Given the description of an element on the screen output the (x, y) to click on. 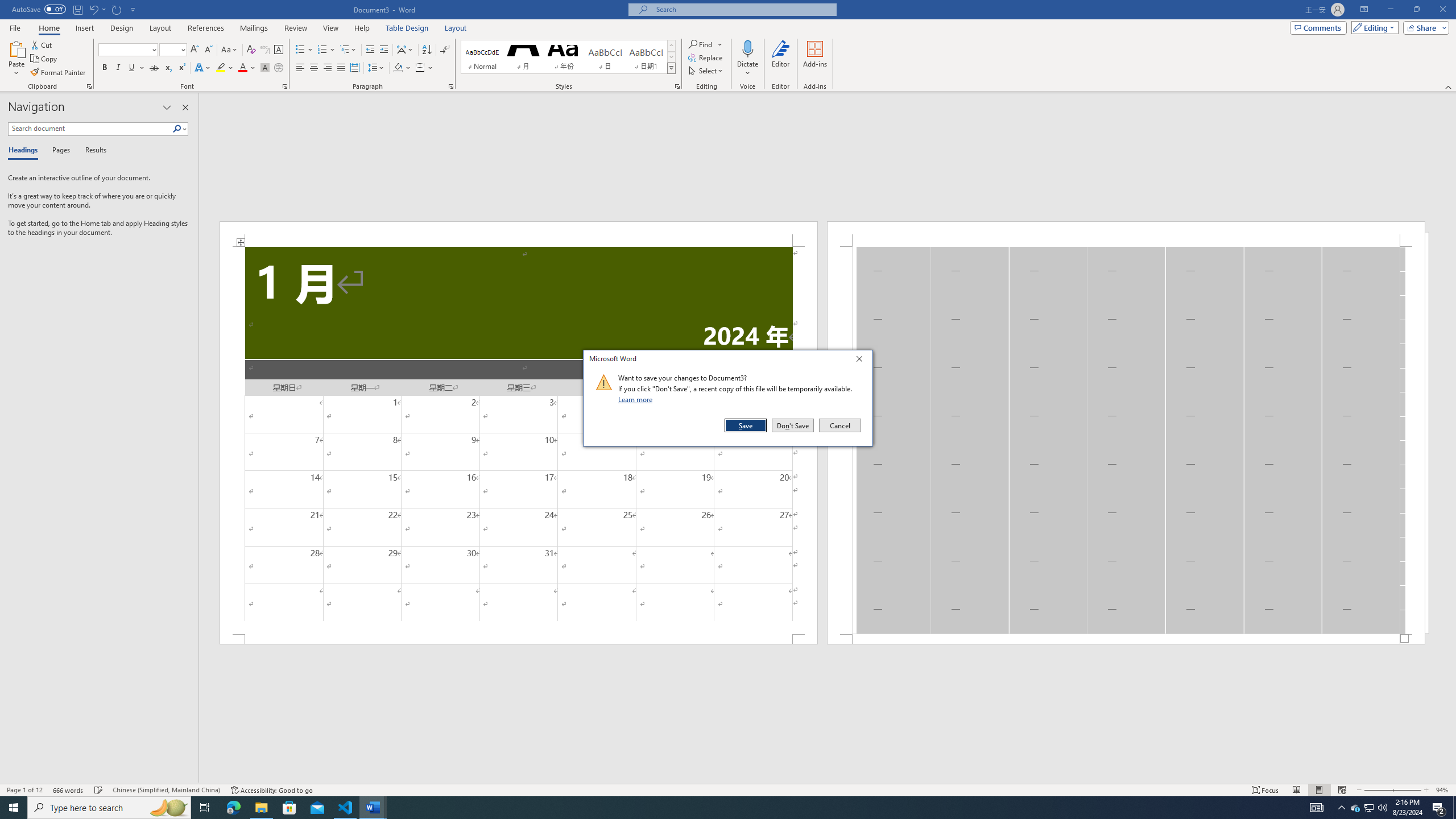
Undo Apply Quick Style (92, 9)
